Given the description of an element on the screen output the (x, y) to click on. 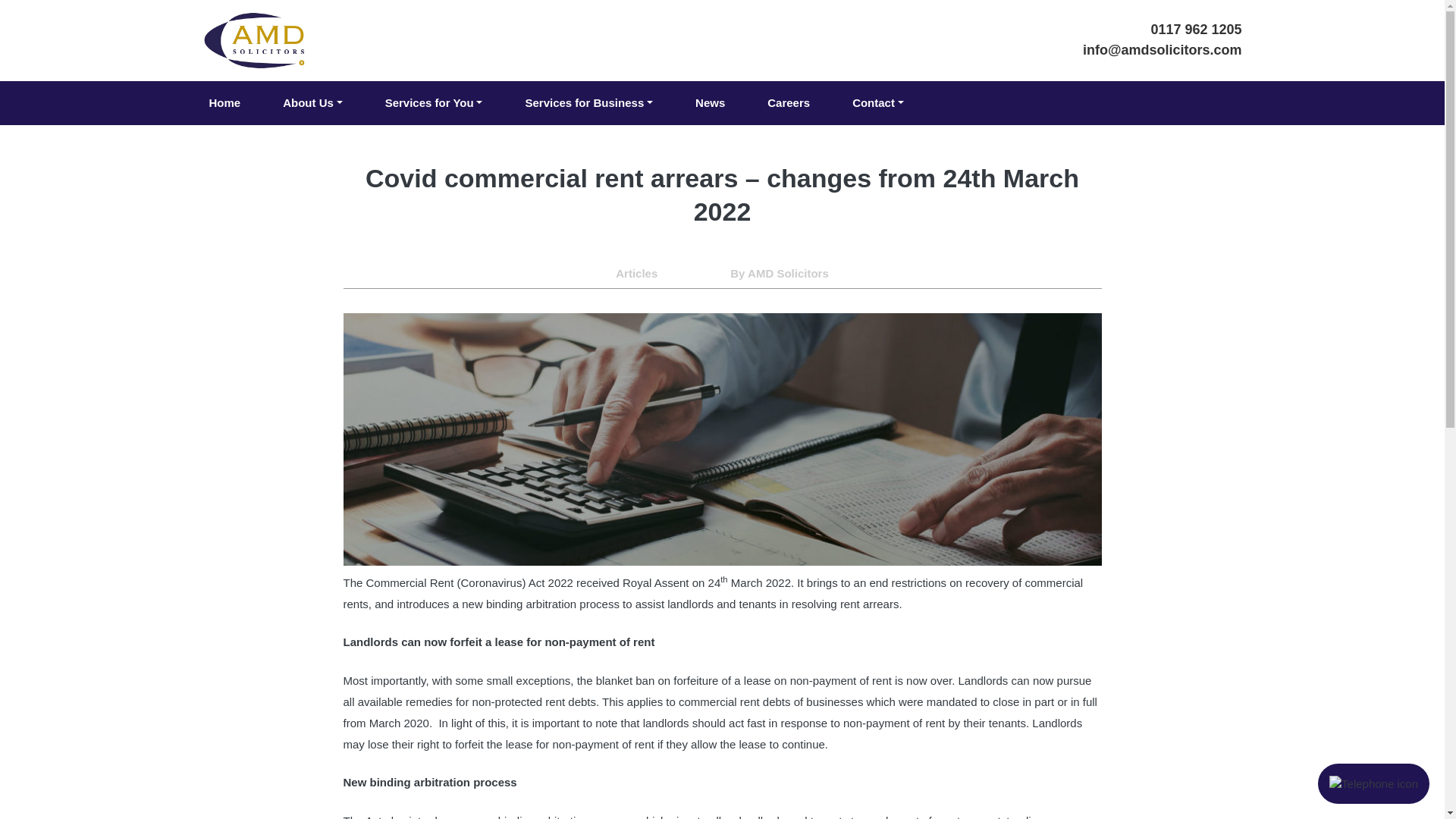
0117 962 1205 (1162, 29)
Contact (877, 102)
Services for You (433, 102)
Careers (788, 102)
News (709, 102)
Services for Business (588, 102)
Home (225, 102)
About Us (311, 102)
